Given the description of an element on the screen output the (x, y) to click on. 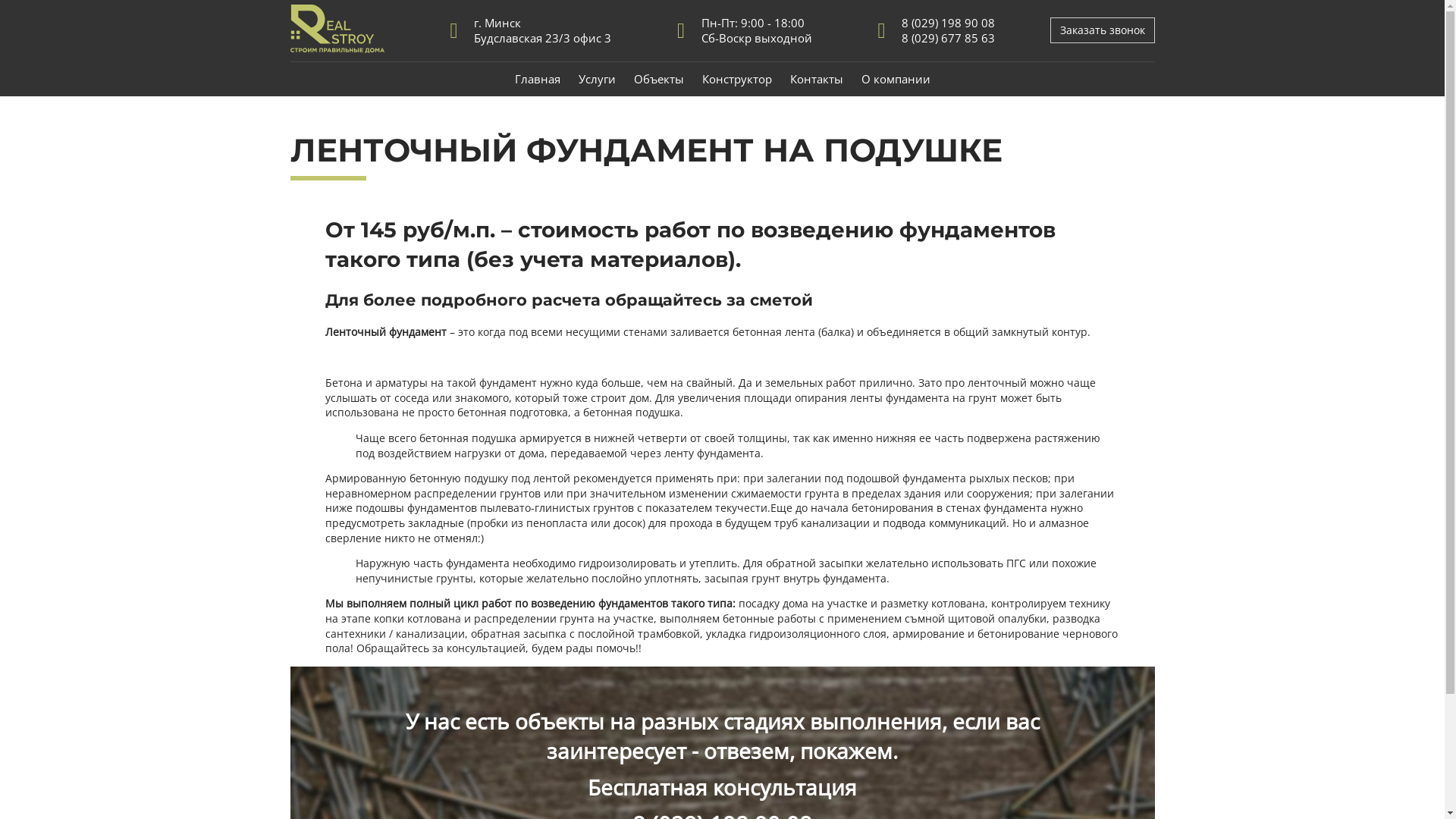
8 (029) 198 90 08 Element type: text (947, 22)
8 (029) 677 85 63 Element type: text (947, 37)
